Given the description of an element on the screen output the (x, y) to click on. 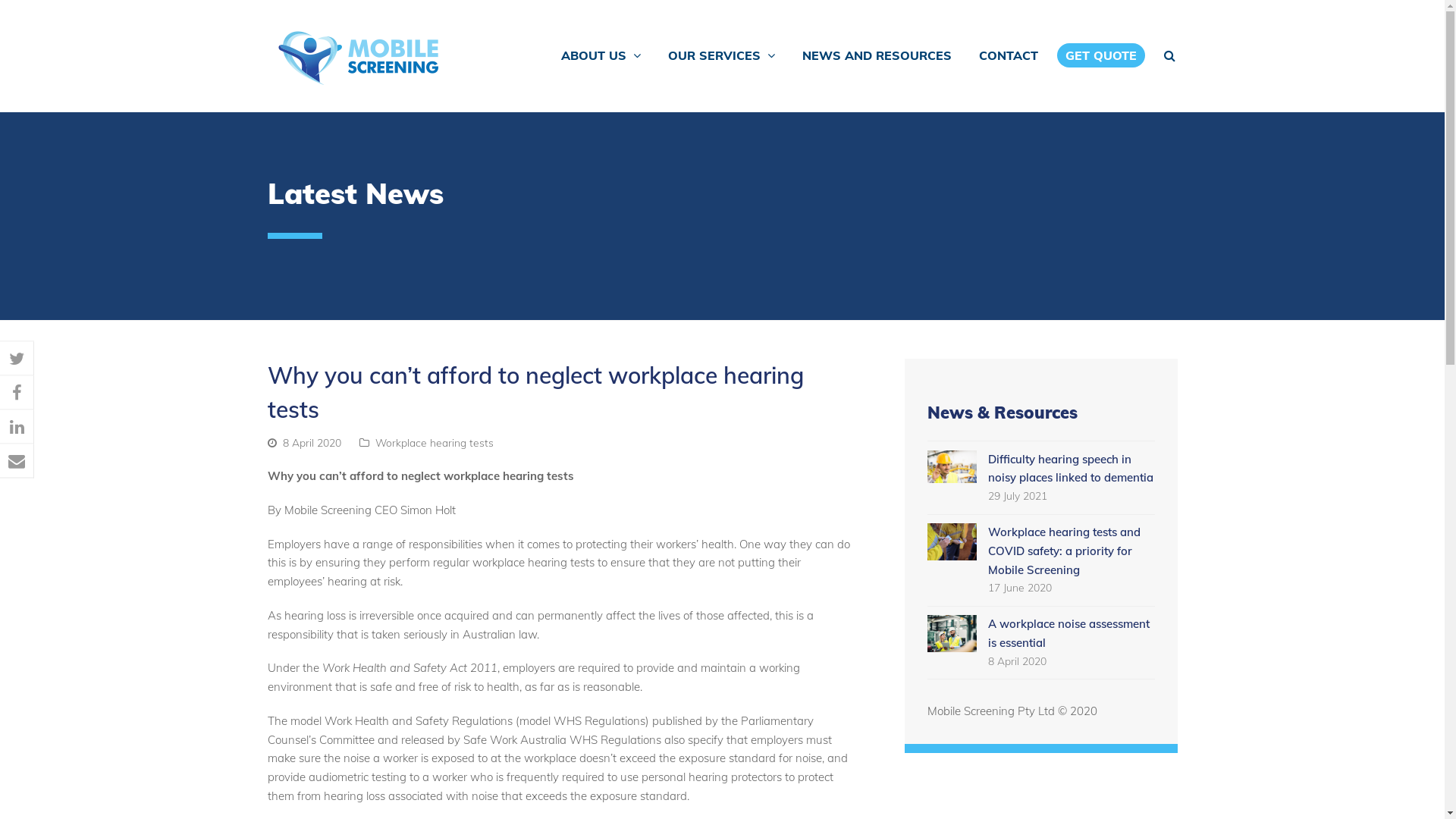
A workplace noise assessment is essential Element type: text (1067, 632)
ABOUT US Element type: text (600, 56)
OUR SERVICES Element type: text (721, 56)
Difficulty hearing speech in noisy places linked to dementia Element type: text (1069, 468)
Difficulty hearing speech in noisy places linked to dementia Element type: hover (950, 466)
GET QUOTE Element type: text (1101, 56)
Workplace hearing tests Element type: text (433, 442)
CONTACT Element type: text (1008, 56)
A workplace noise assessment is essential Element type: hover (950, 633)
NEWS AND RESOURCES Element type: text (876, 56)
